Given the description of an element on the screen output the (x, y) to click on. 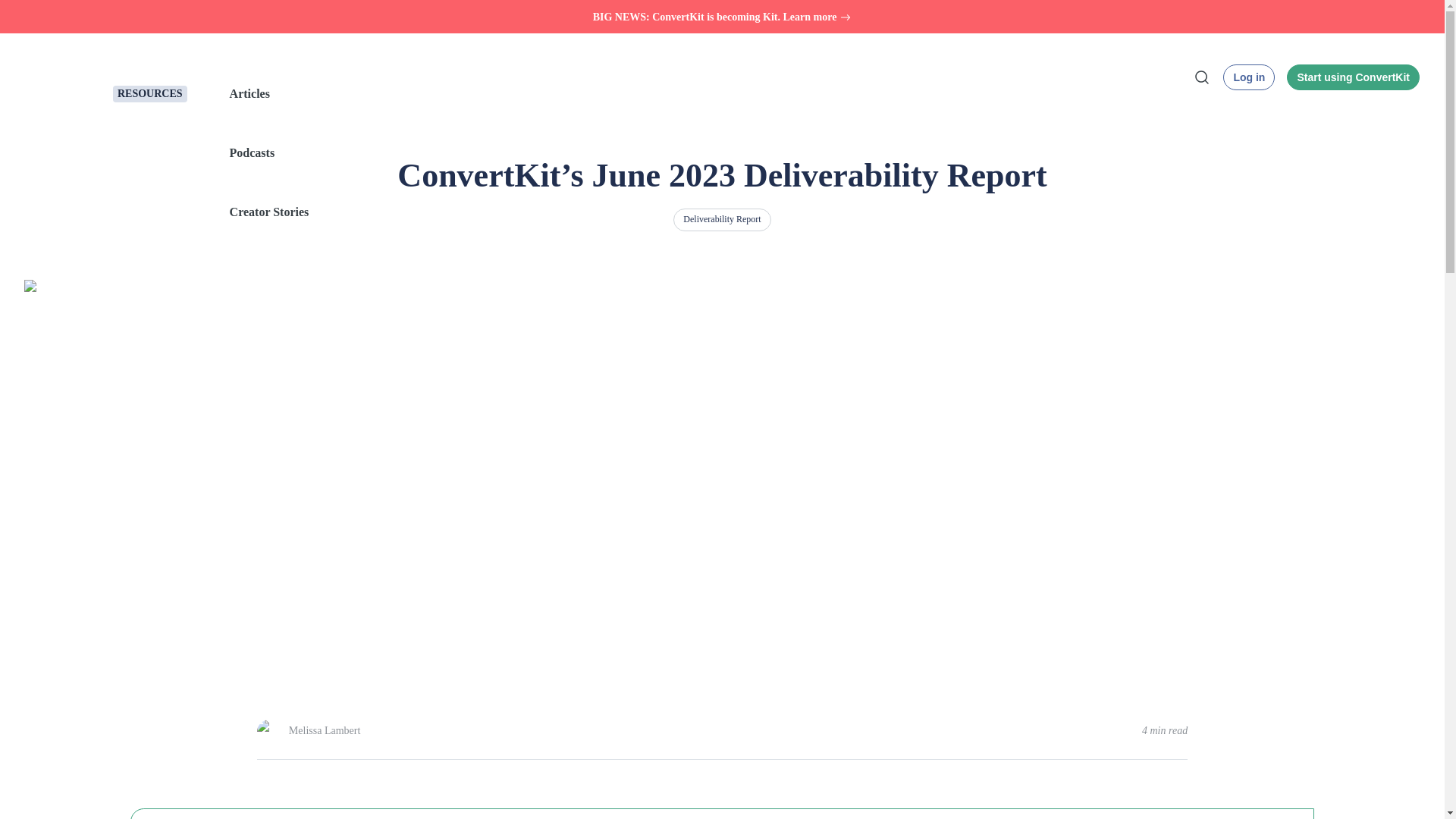
Log in (1249, 77)
Podcasts (690, 152)
Creator Stories (690, 211)
Melissa Lambert (323, 731)
Start using ConvertKit (1353, 77)
RESOURCES (150, 93)
Deliverability Report (721, 219)
Articles (690, 93)
